Given the description of an element on the screen output the (x, y) to click on. 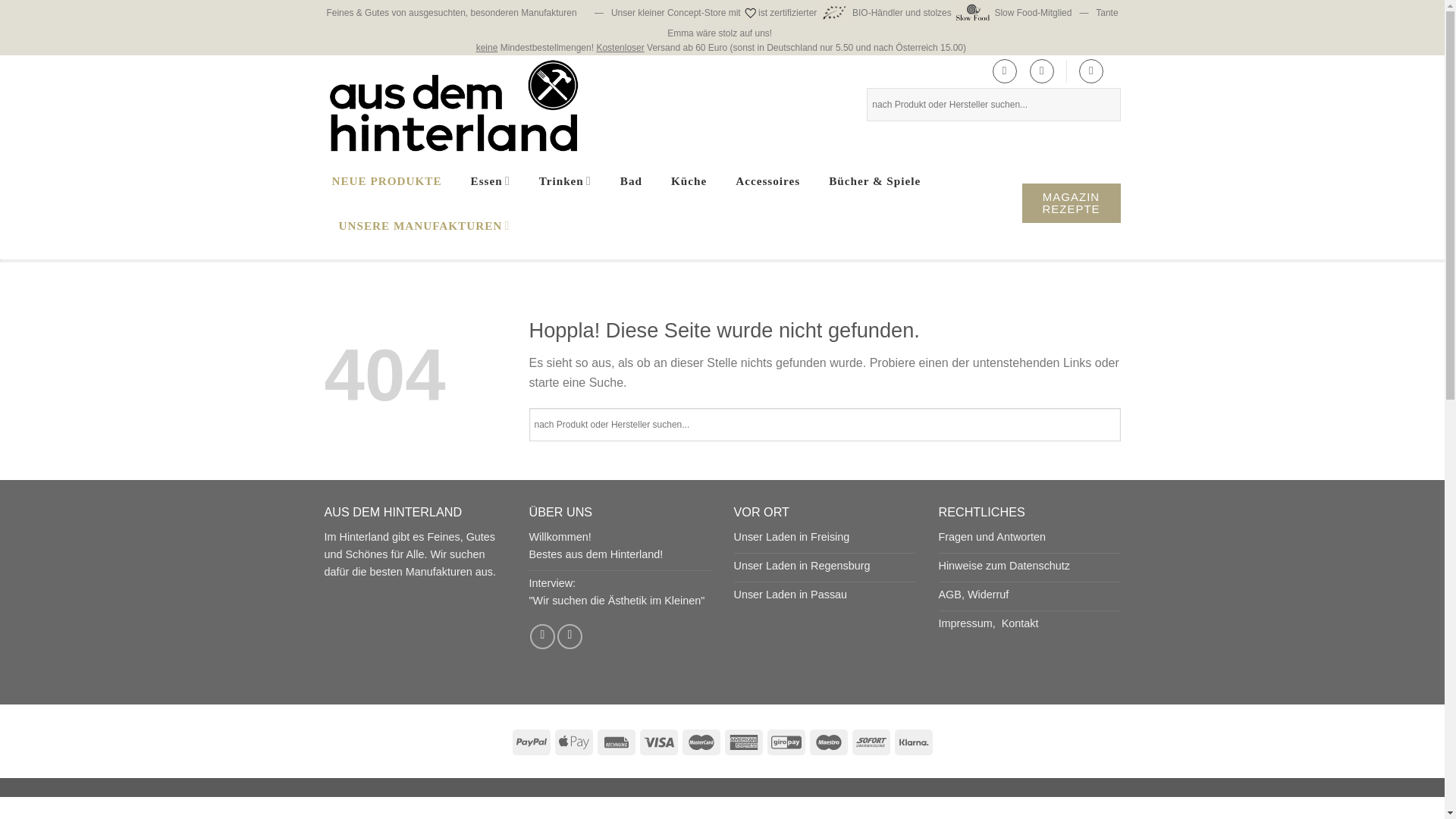
Kontakt (1020, 623)
Bad (631, 180)
Auf Instagram folgen (569, 636)
Essen (490, 180)
Auf Facebook folgen (541, 636)
Interview (616, 591)
Accessoires (767, 180)
Willkommen! Bestes aus dem Hinterland (596, 545)
Widerrufsbelehrung (988, 594)
NEUE PRODUKTE (386, 180)
